Given the description of an element on the screen output the (x, y) to click on. 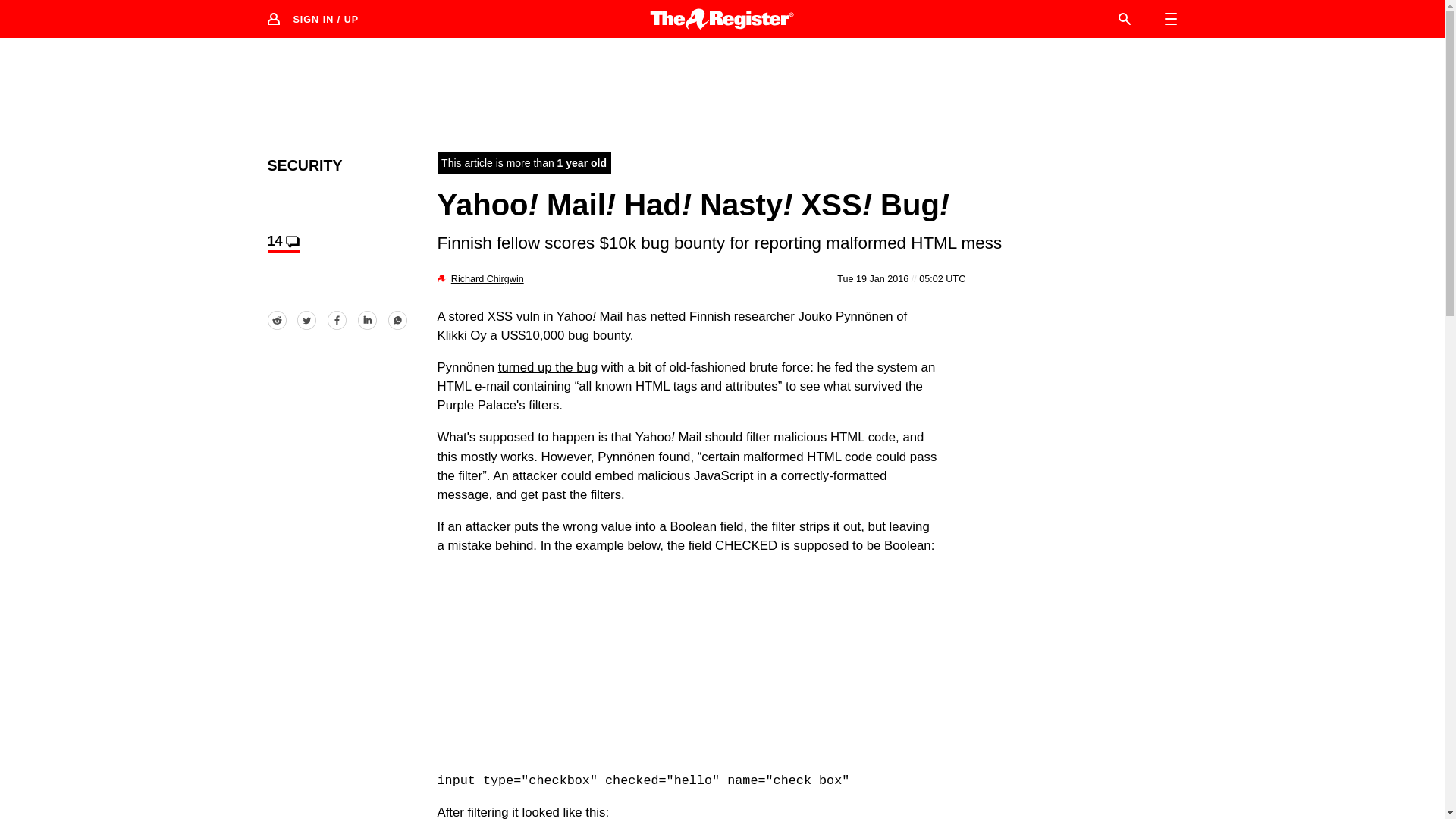
View comments on this article (282, 243)
Read more by this author (487, 278)
